Given the description of an element on the screen output the (x, y) to click on. 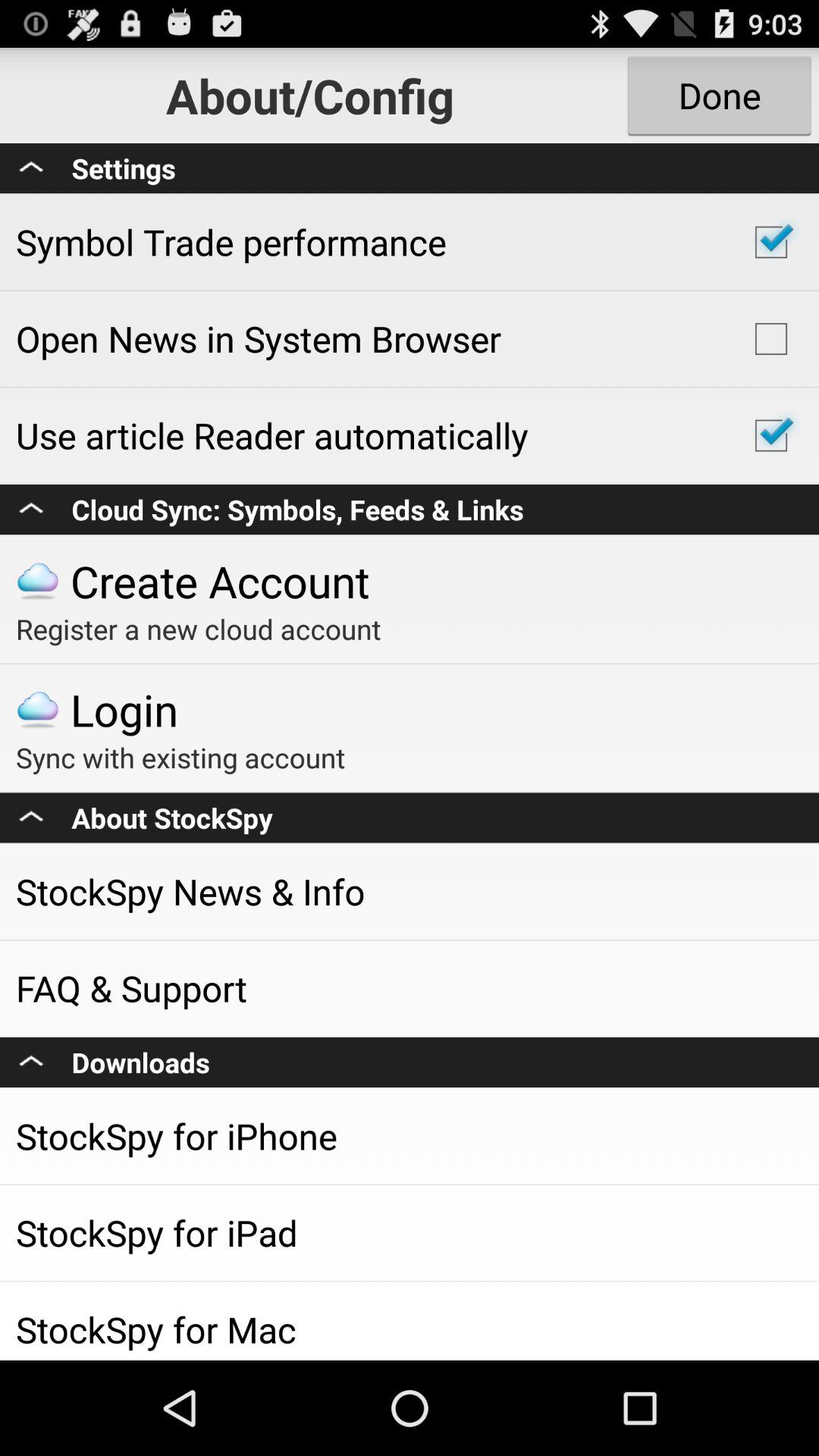
select the done at the top right corner (719, 95)
